Given the description of an element on the screen output the (x, y) to click on. 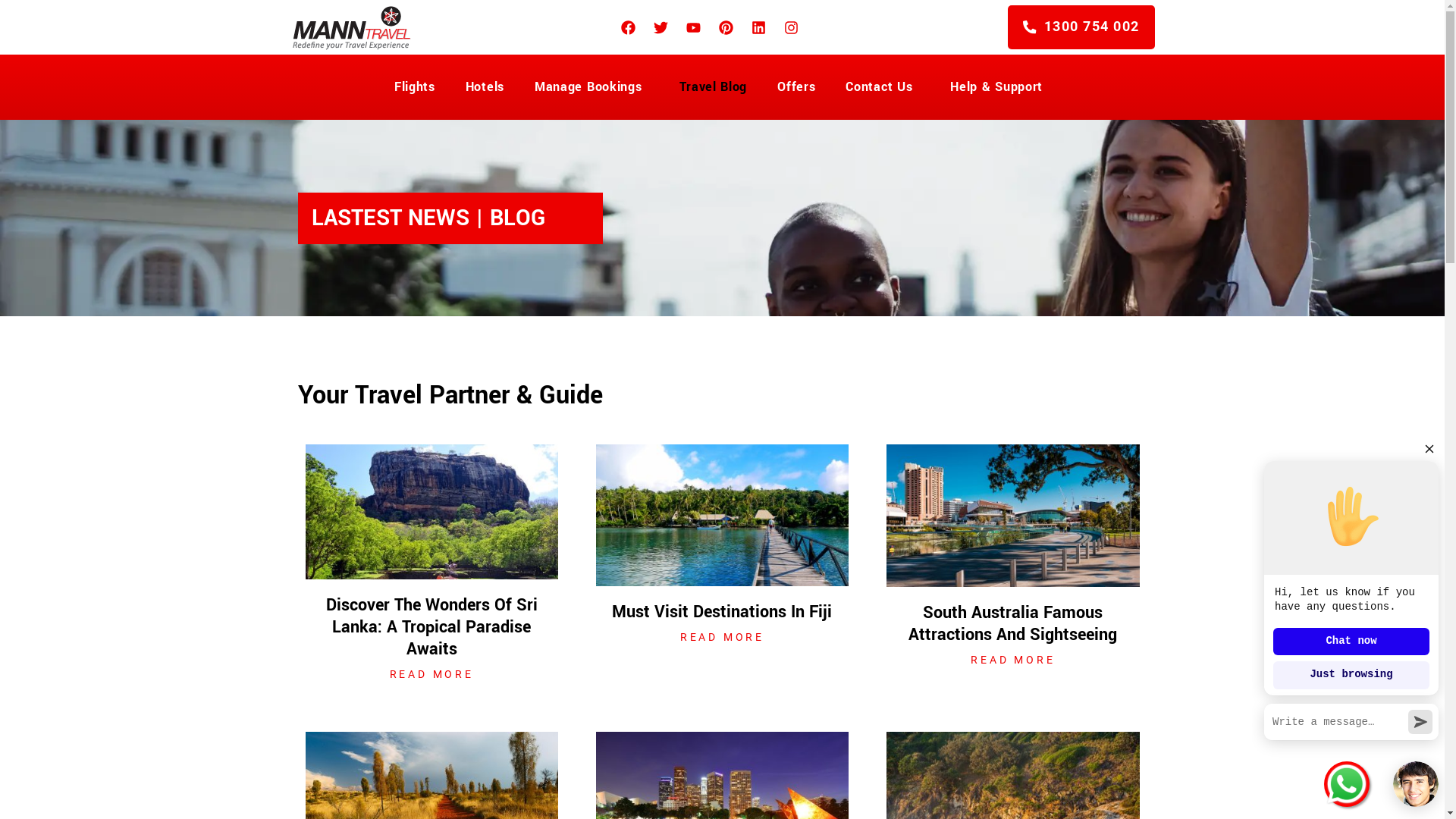
READ MORE Element type: text (722, 637)
READ MORE Element type: text (431, 674)
Manage Bookings Element type: text (592, 86)
Chat on WhatsApp Element type: hover (1346, 783)
Offers Element type: text (796, 86)
Contact Us Element type: text (882, 86)
Hotels Element type: text (484, 86)
Help & Support Element type: text (1000, 86)
Travel Blog Element type: text (713, 86)
Must-Visit-Destinations-in-Fiji_1920x1080 Element type: hover (722, 515)
1300 754 002 Element type: text (1080, 26)
South Australia Famous Attractions And Sightseeing Element type: text (1012, 623)
READ MORE Element type: text (1012, 660)
Must Visit Destinations In Fiji Element type: text (721, 611)
Sri_lanka_Blog_image_1400x750 (1) Element type: hover (430, 511)
Flights Element type: text (414, 86)
South-Australia-Famous-Attractions-and-Sightseeing_1920x1080 Element type: hover (1012, 515)
